Given the description of an element on the screen output the (x, y) to click on. 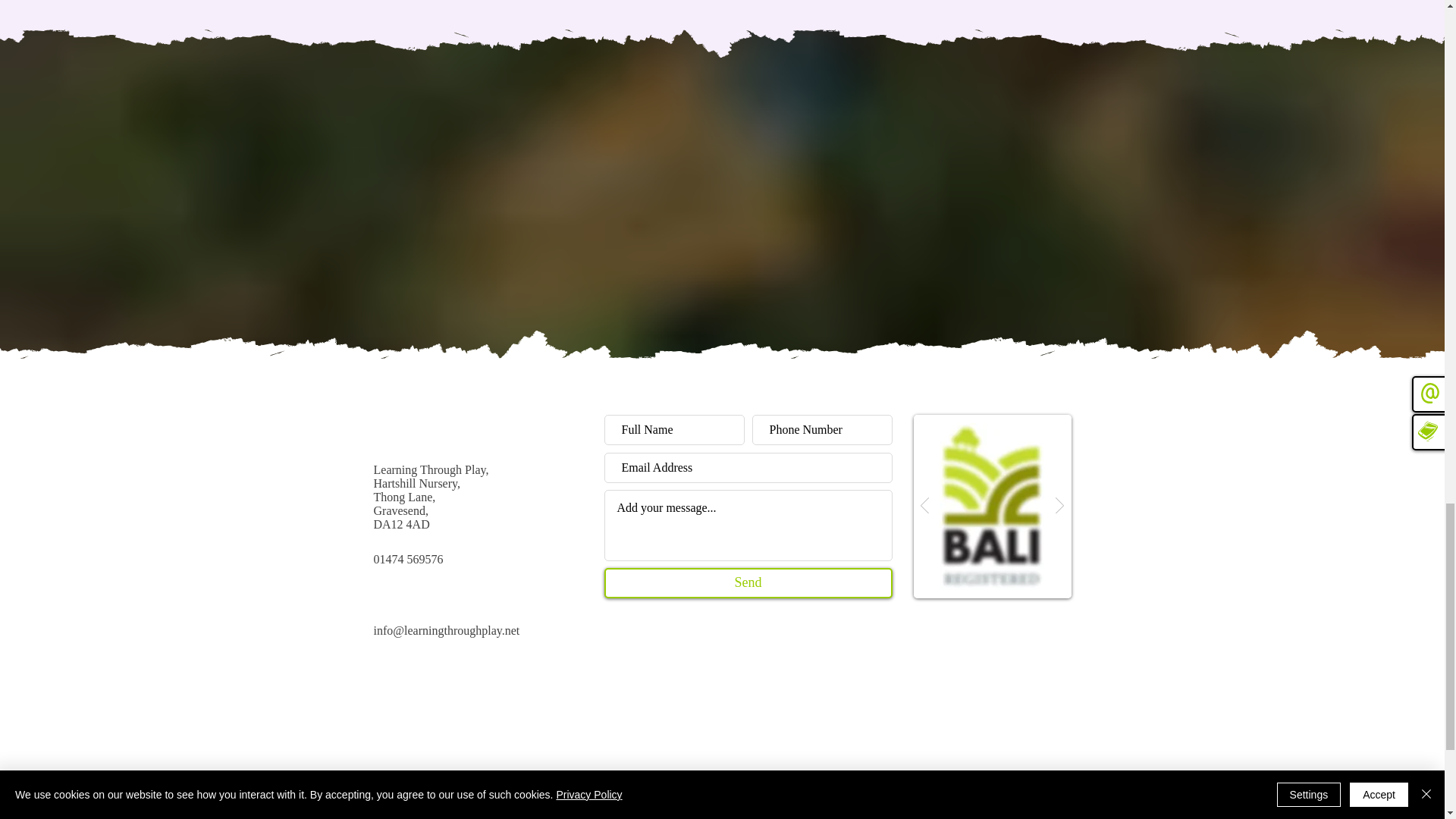
Send (747, 583)
